Given the description of an element on the screen output the (x, y) to click on. 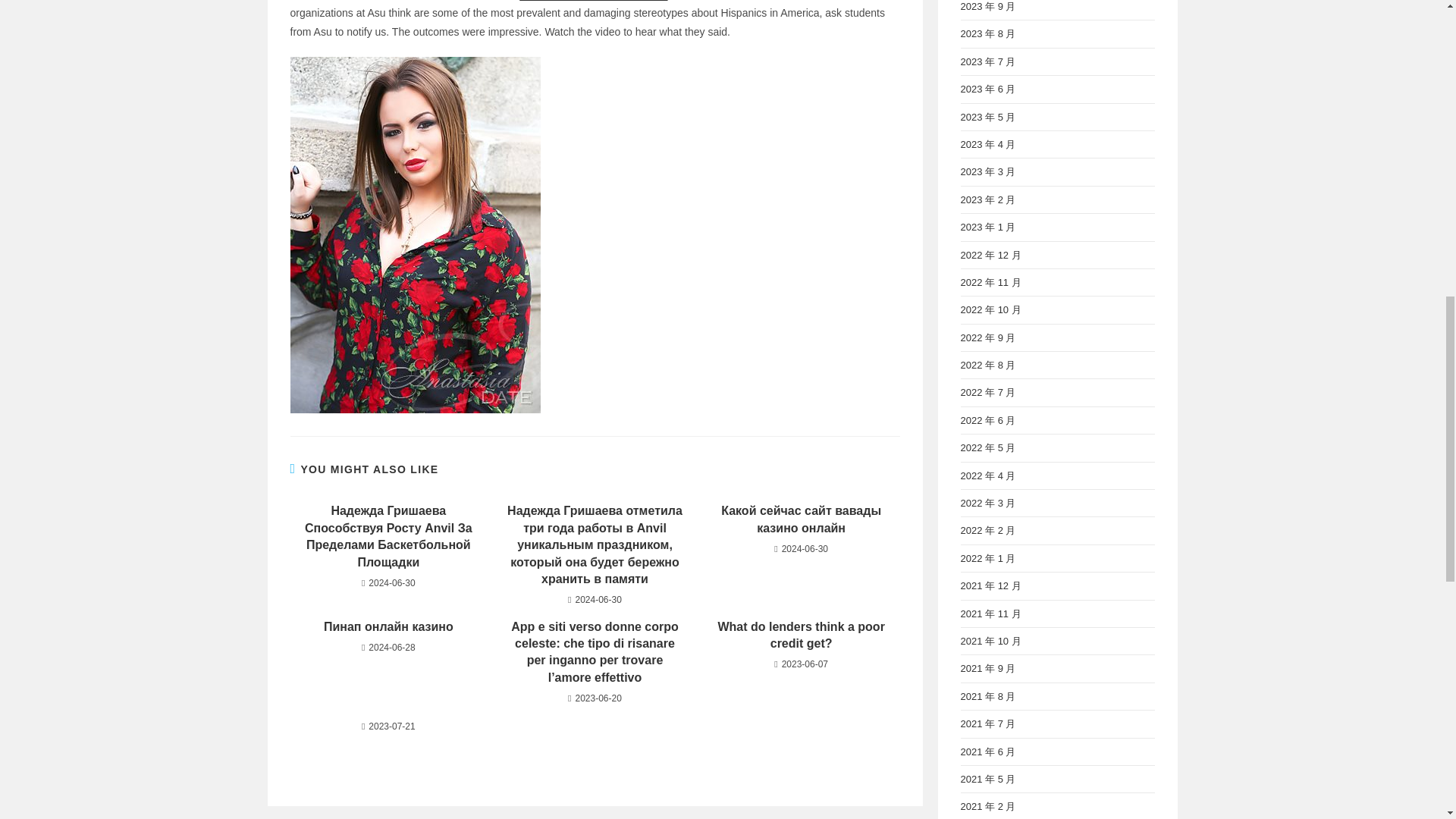
What do lenders think a poor credit get? (801, 635)
